Given the description of an element on the screen output the (x, y) to click on. 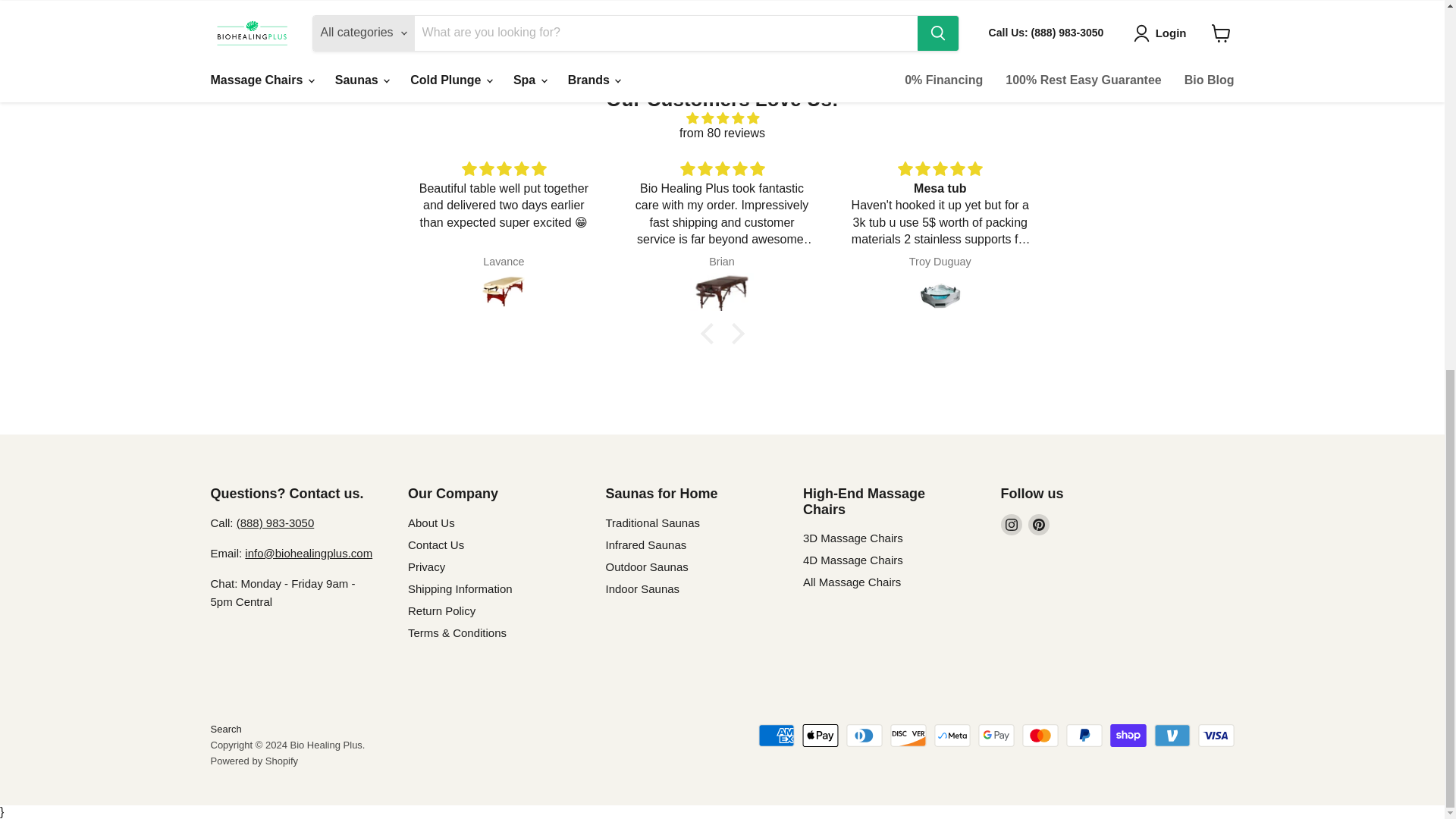
Instagram (1011, 524)
Pinterest (1038, 524)
American Express (776, 734)
